Given the description of an element on the screen output the (x, y) to click on. 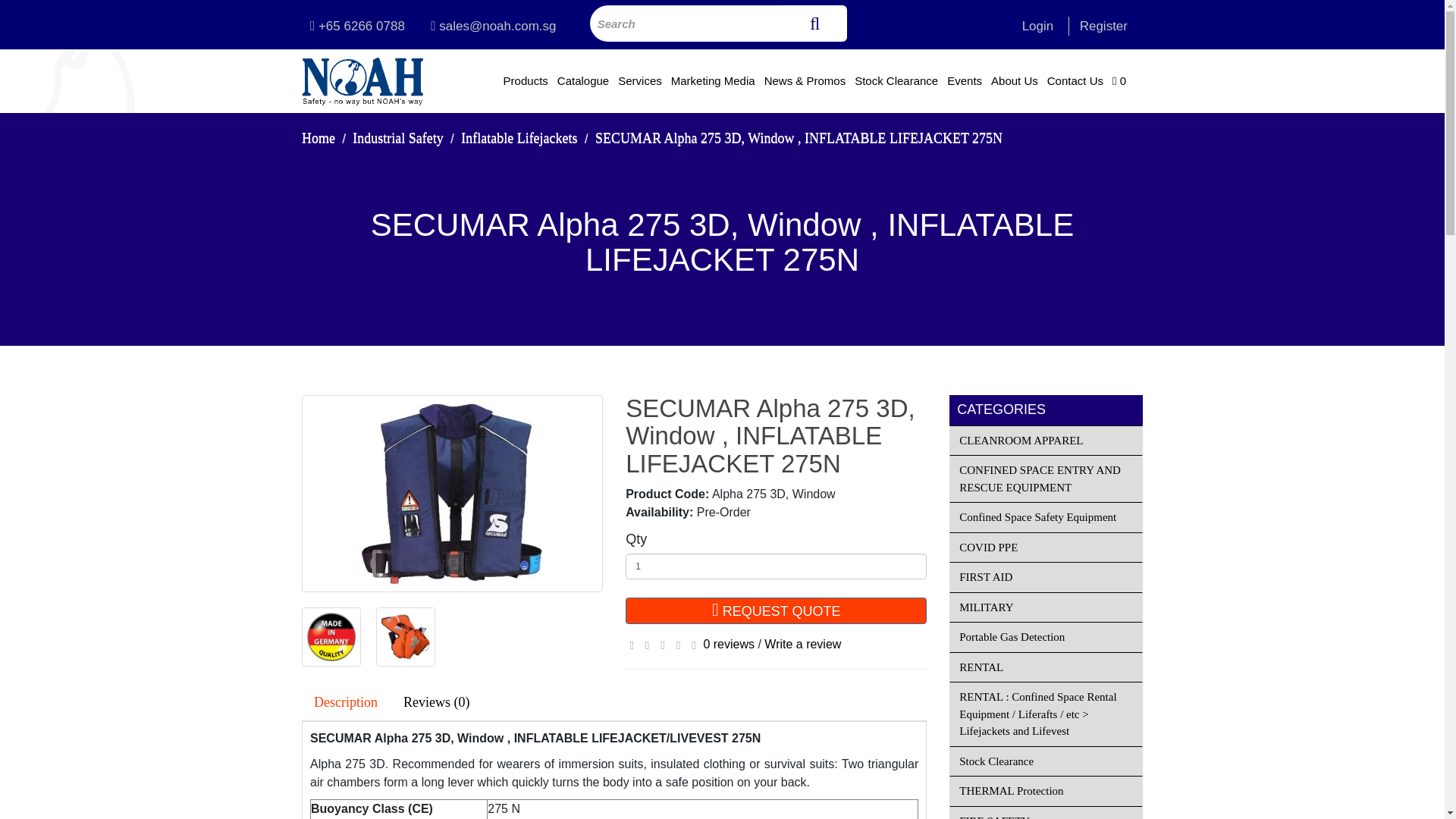
Contact Us (1075, 80)
Products (526, 80)
About Us (1014, 80)
Stock Clearance (896, 80)
SECUMAR Alpha 275 3D, Window , INFLATABLE LIFEJACKET 275N (405, 636)
Events (964, 80)
NOAH AGENCIES 'N' MARINE SERVICES PTE LTD (362, 81)
SECUMAR Alpha 275 3D, Window , INFLATABLE LIFEJACKET 275N (452, 493)
SECUMAR Alpha 275 3D, Window , INFLATABLE LIFEJACKET 275N (330, 636)
Catalogue (582, 80)
1 (776, 566)
0 (1119, 80)
SECUMAR Alpha 275 3D, Window , INFLATABLE LIFEJACKET 275N (331, 636)
Register (1103, 25)
Services (639, 80)
